Given the description of an element on the screen output the (x, y) to click on. 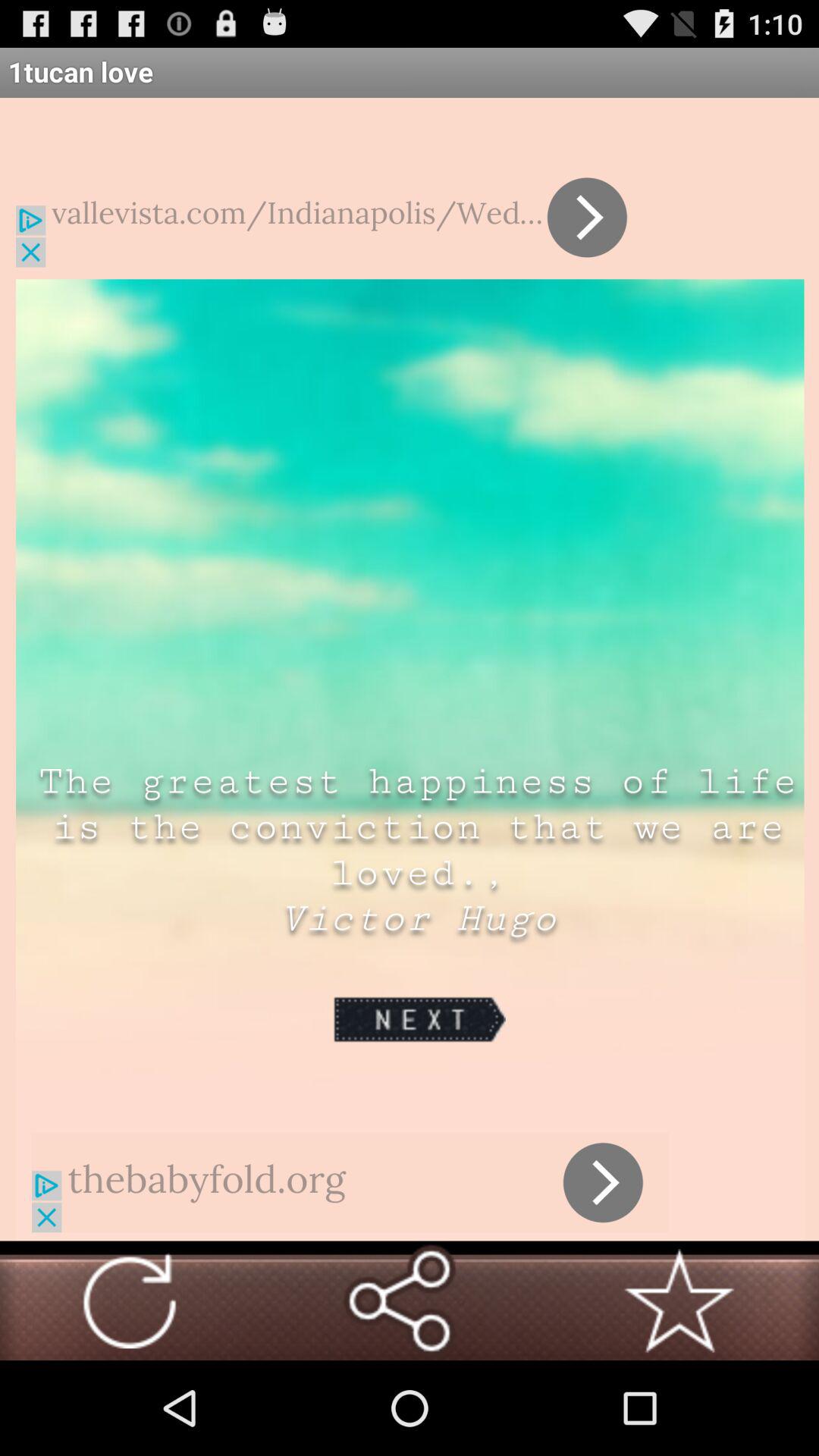
share the saying (399, 1300)
